Given the description of an element on the screen output the (x, y) to click on. 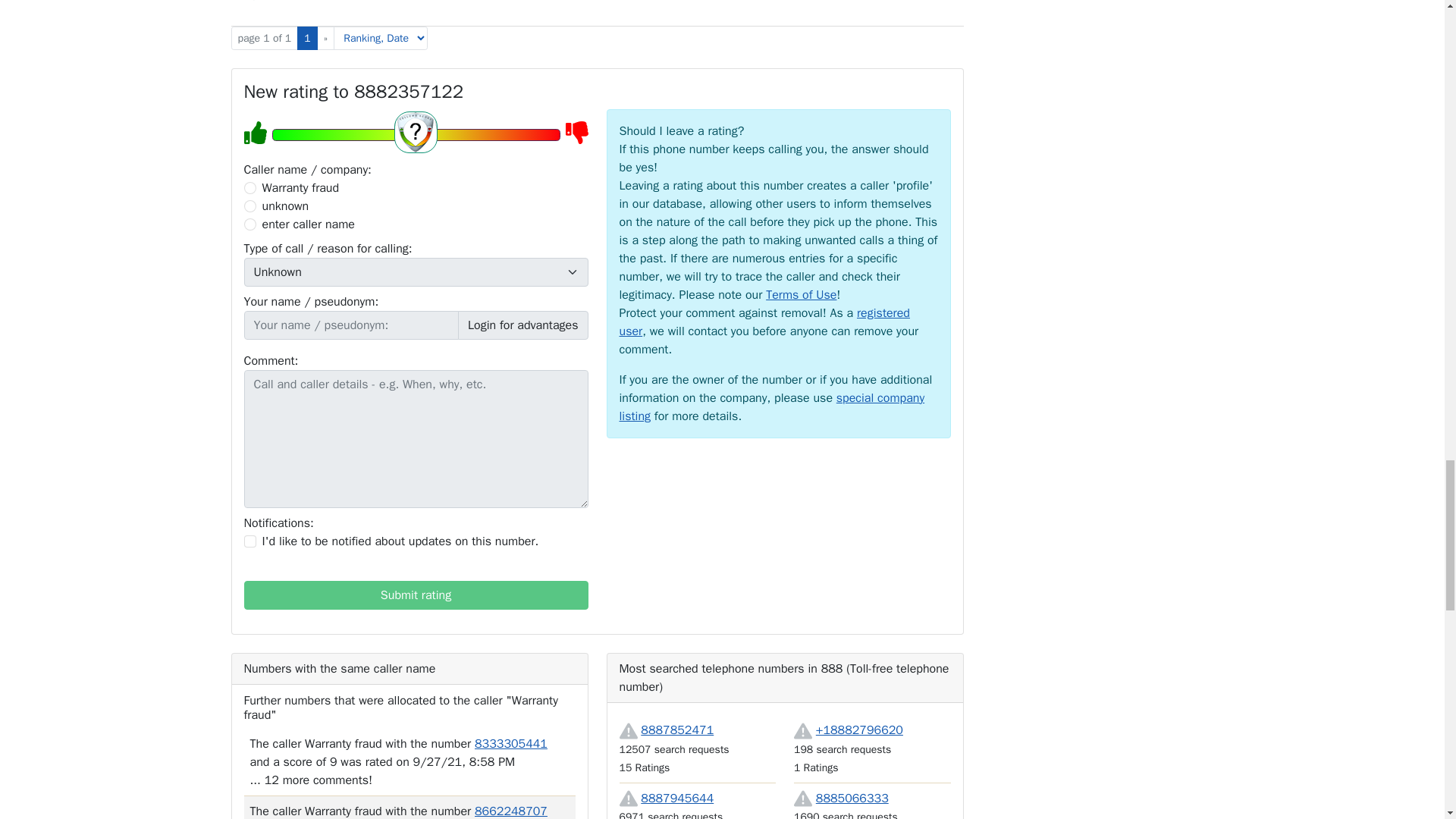
1 (250, 541)
Submit rating (416, 594)
2 (250, 205)
5 (414, 135)
3 (250, 224)
Evaluate the comment as not helpful (253, 1)
0 (250, 187)
